Given the description of an element on the screen output the (x, y) to click on. 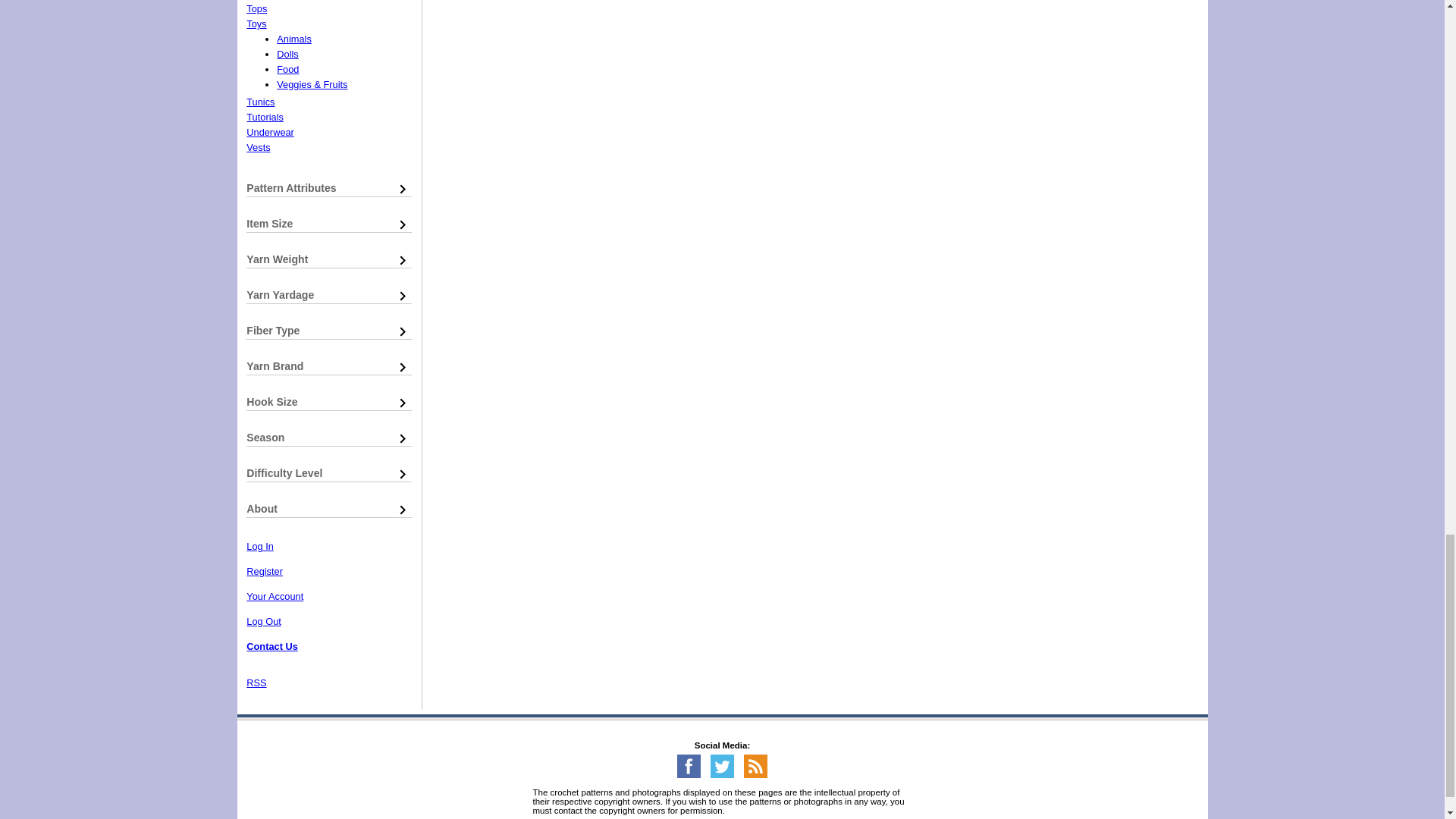
Twitter (721, 774)
Facebook Page (688, 774)
RSS Feed (755, 774)
